Given the description of an element on the screen output the (x, y) to click on. 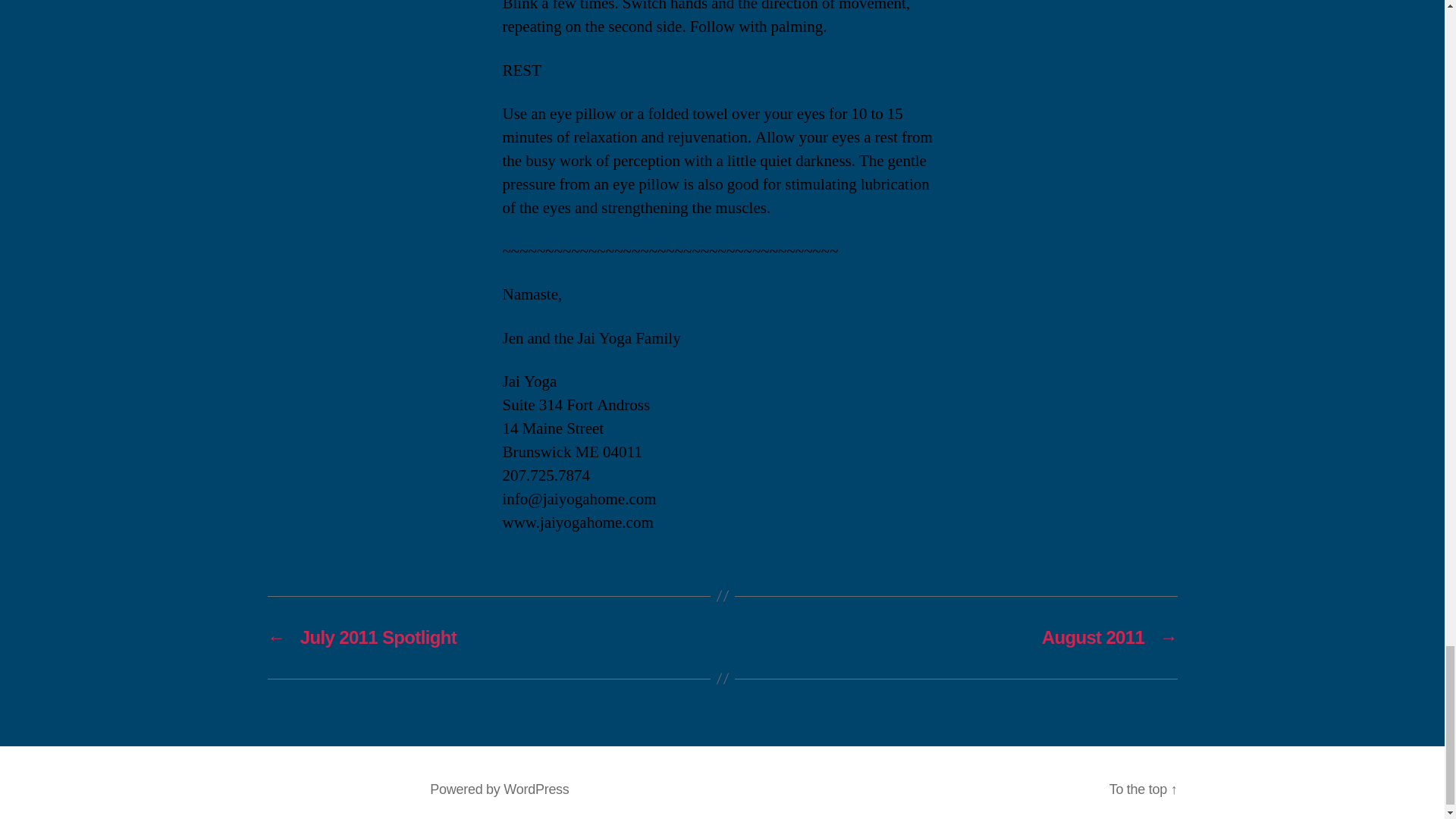
Jai Yoga Studio (363, 789)
Powered by WordPress (499, 789)
